Given the description of an element on the screen output the (x, y) to click on. 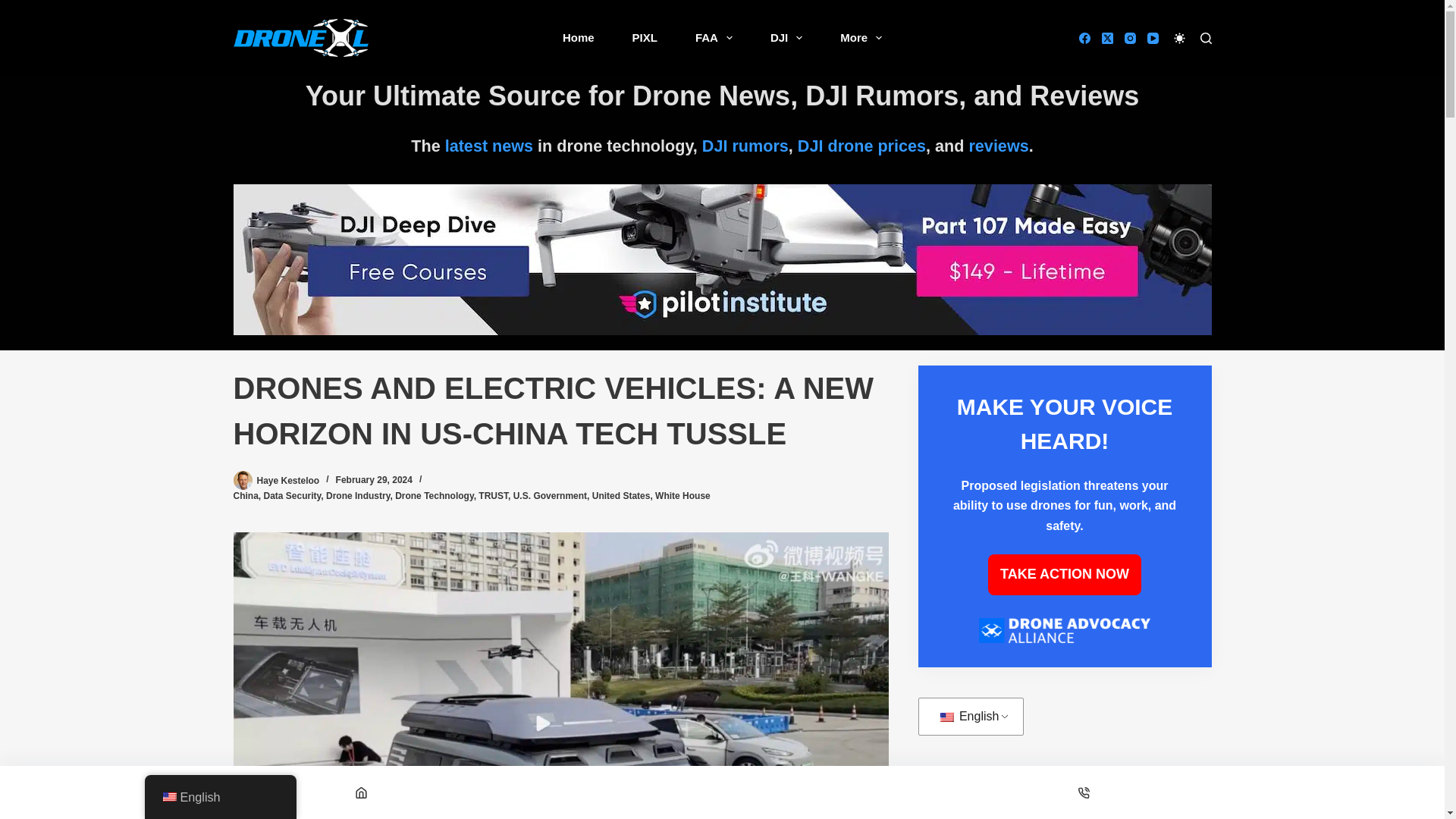
Skip to content (15, 7)
DJI rumors (745, 145)
More (861, 37)
DJI drone prices (861, 145)
PIXL (644, 37)
latest news (488, 145)
Home (577, 37)
FAA (714, 37)
